Given the description of an element on the screen output the (x, y) to click on. 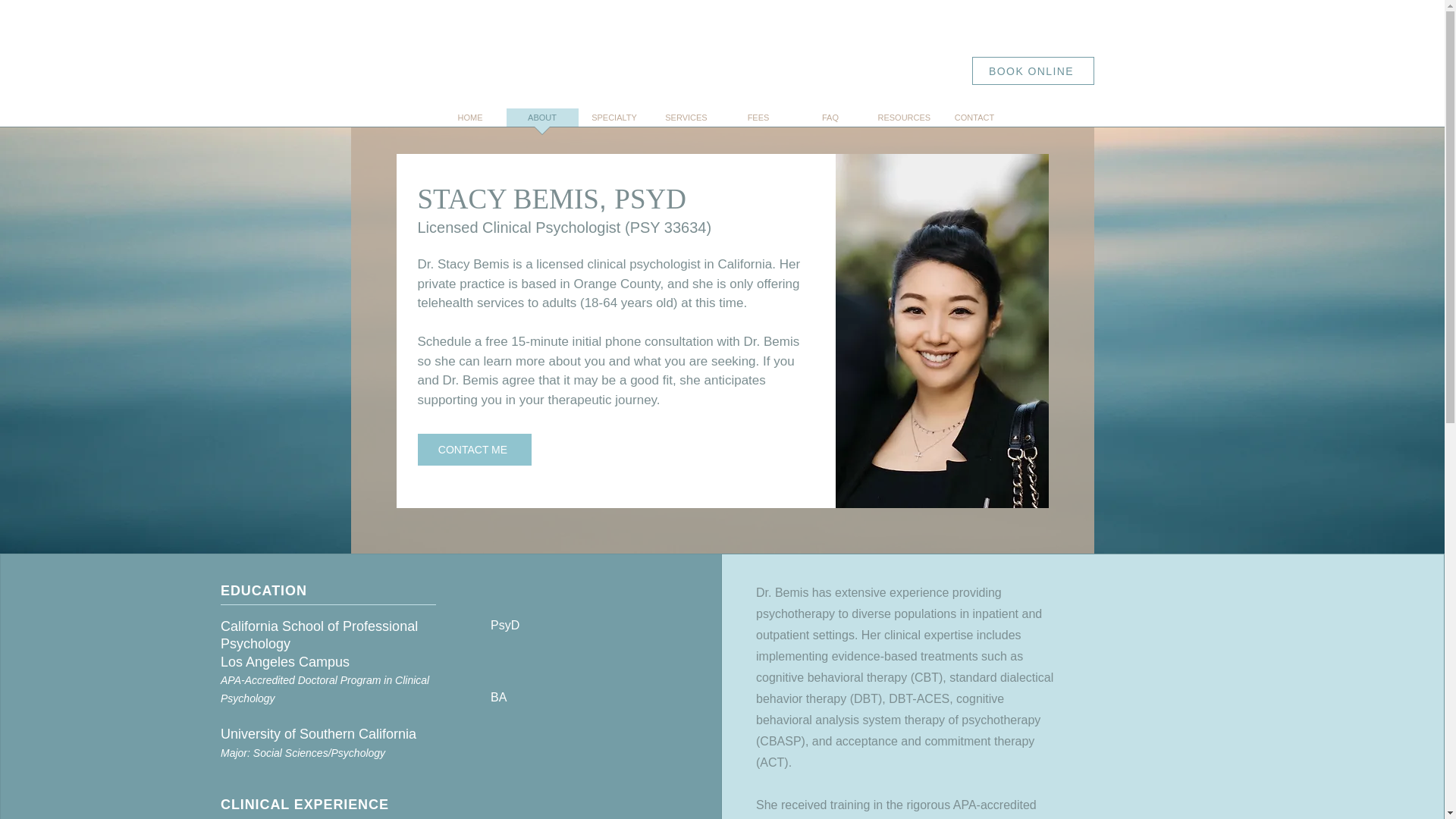
FAQ (830, 122)
CONTACT (974, 122)
SPECIALTY (613, 122)
HOME (469, 122)
CONTACT ME (473, 450)
RESOURCES (901, 122)
BOOK ONLINE (1033, 70)
ABOUT (542, 122)
FEES (757, 122)
SERVICES (686, 122)
